Given the description of an element on the screen output the (x, y) to click on. 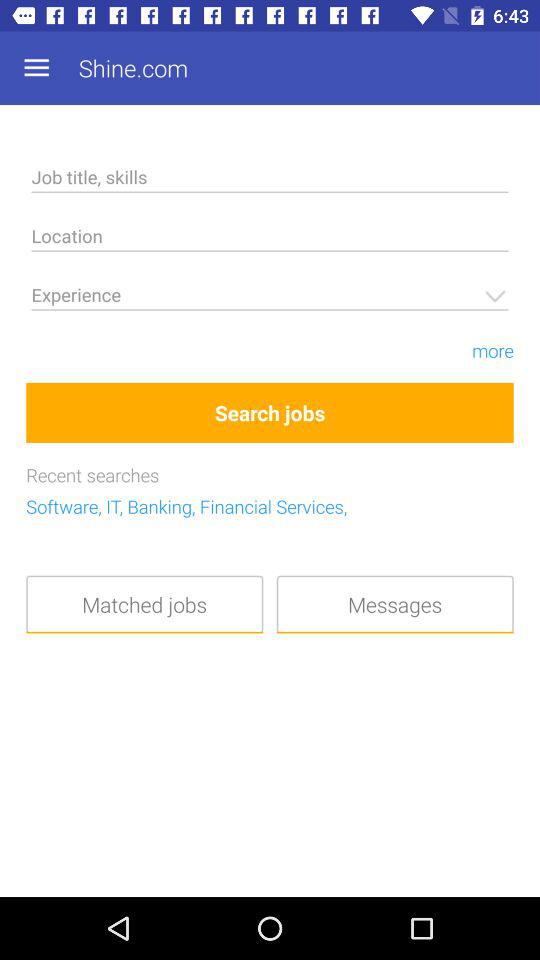
click on the second text field (269, 239)
click on the messages (395, 604)
click on the search jobs option (269, 412)
select the drop down in the page (269, 297)
click on the matched jobs option (143, 604)
